Given the description of an element on the screen output the (x, y) to click on. 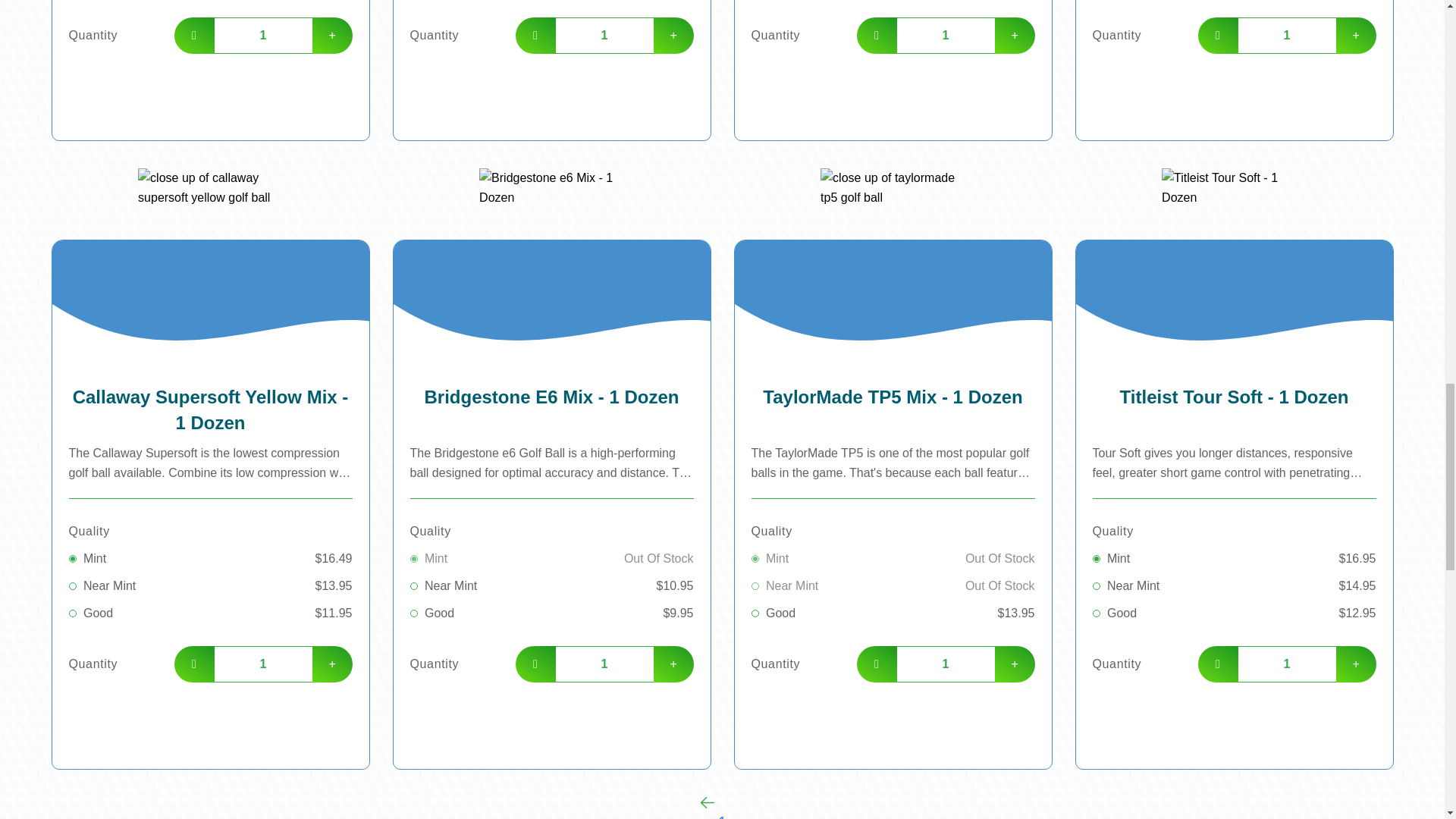
Add to Cart (210, 715)
1 (603, 35)
Add to Cart (210, 86)
1 (262, 664)
1 (1286, 35)
1 (603, 664)
Add to Cart (1233, 86)
Add to Cart (551, 86)
Add to Cart (892, 86)
1 (262, 35)
1 (945, 35)
